Given the description of an element on the screen output the (x, y) to click on. 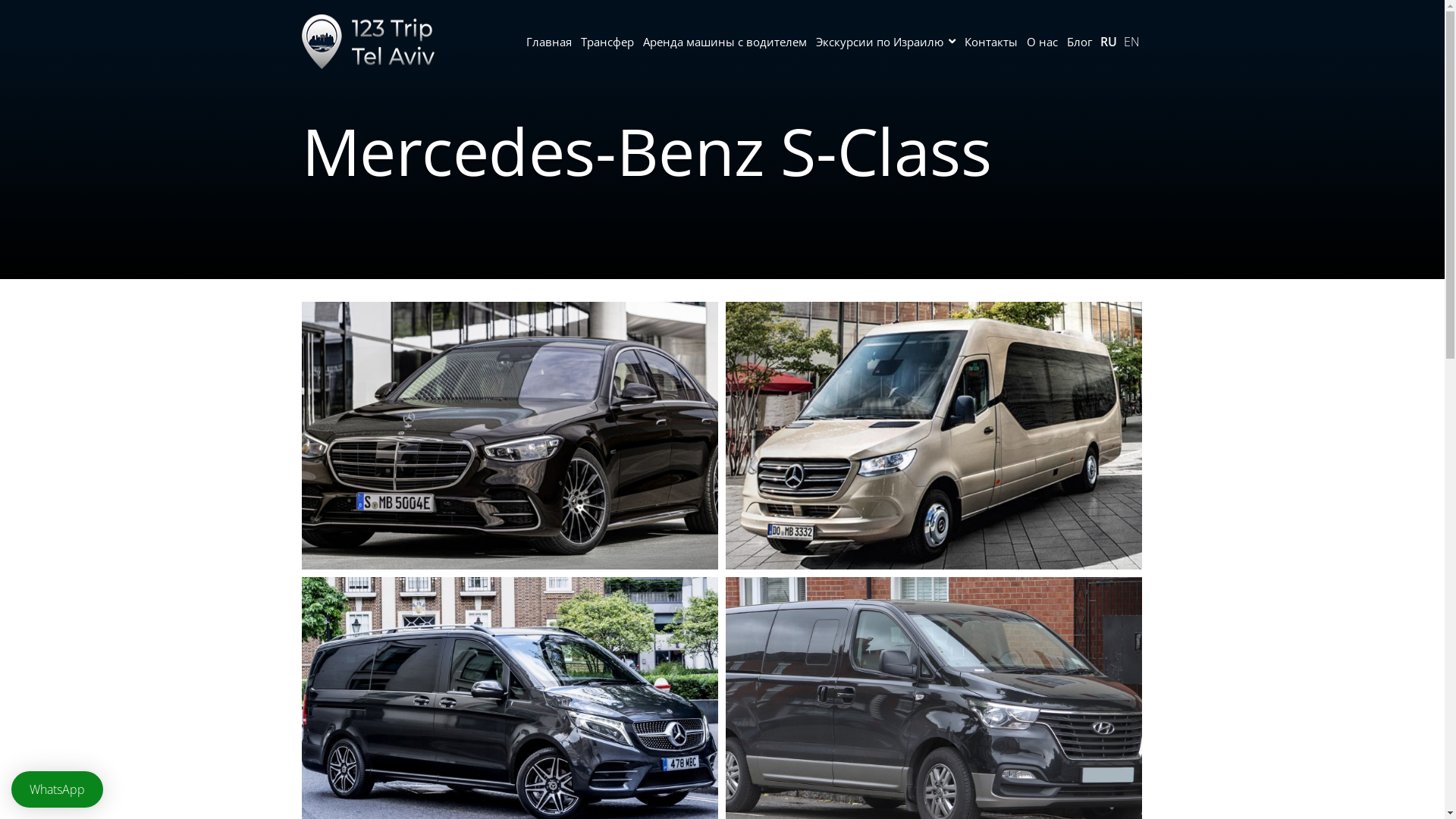
EN Element type: text (1131, 41)
RU Element type: text (1107, 41)
